Given the description of an element on the screen output the (x, y) to click on. 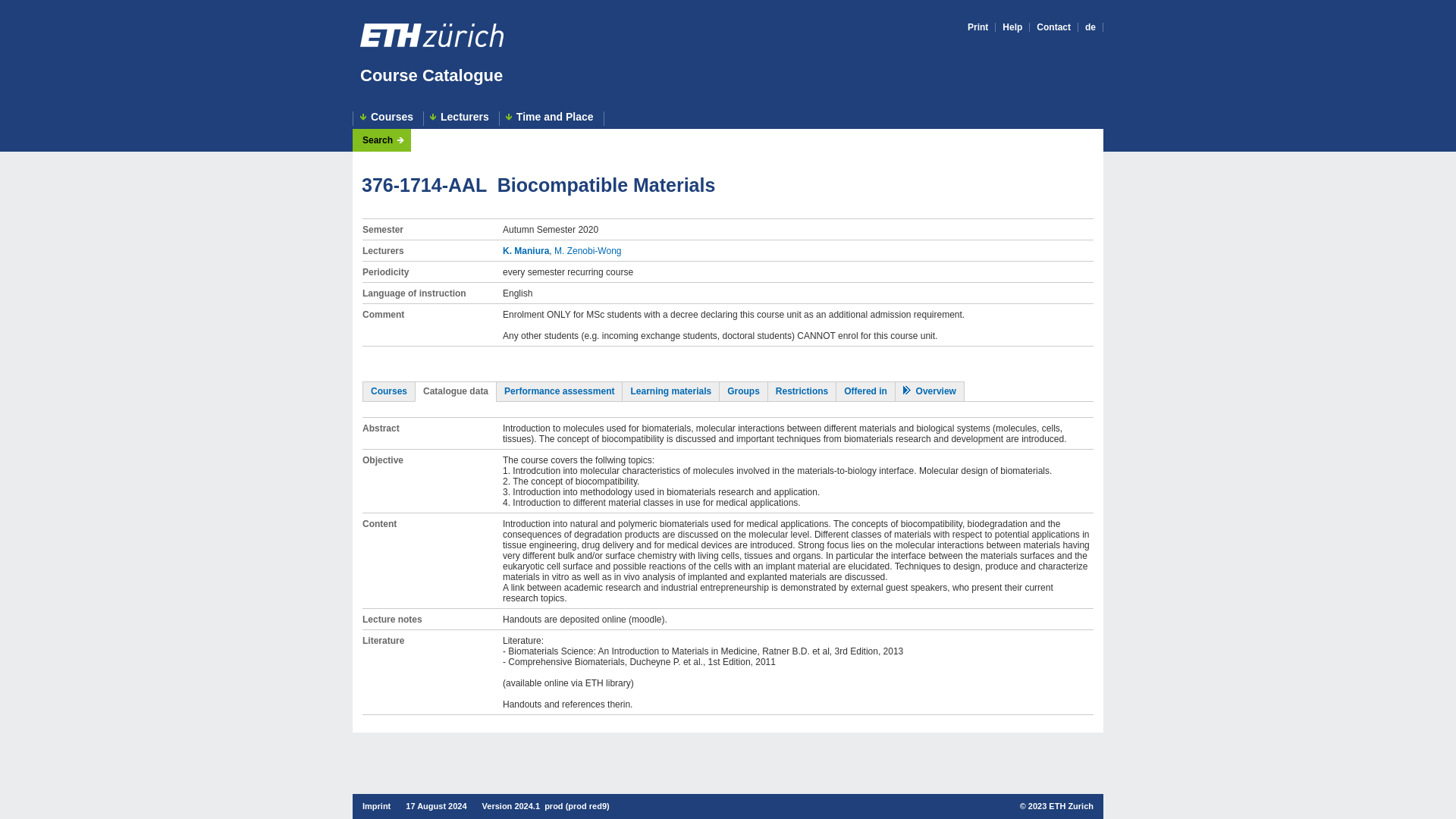
de (1090, 26)
Contact (1053, 26)
Print (978, 26)
Offered in (865, 390)
Imprint (376, 805)
2023 ETH Zurich (1060, 805)
M. Zenobi-Wong (587, 250)
K. Maniura (525, 250)
Groups (743, 390)
Courses (389, 390)
